Given the description of an element on the screen output the (x, y) to click on. 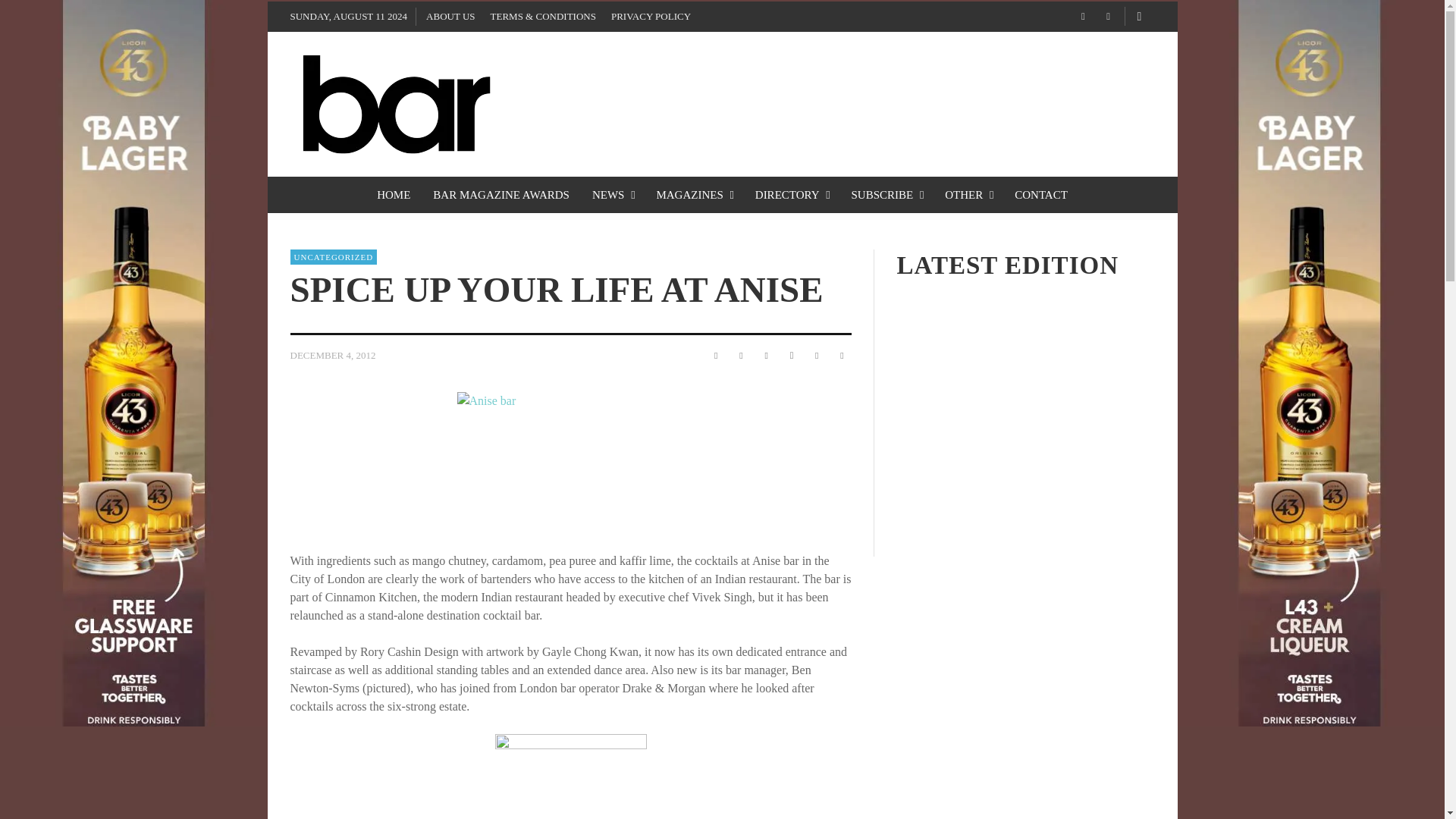
Anise bar (570, 467)
PRIVACY POLICY (651, 16)
View all posts in Uncategorized (333, 256)
ben newton-syms Anise 176 (570, 776)
NEWS (612, 194)
MAGAZINES (693, 194)
ABOUT US (450, 16)
HOME (393, 194)
BAR MAGAZINE AWARDS (501, 194)
Permalink to Spice up your life at Anise (332, 355)
